Given the description of an element on the screen output the (x, y) to click on. 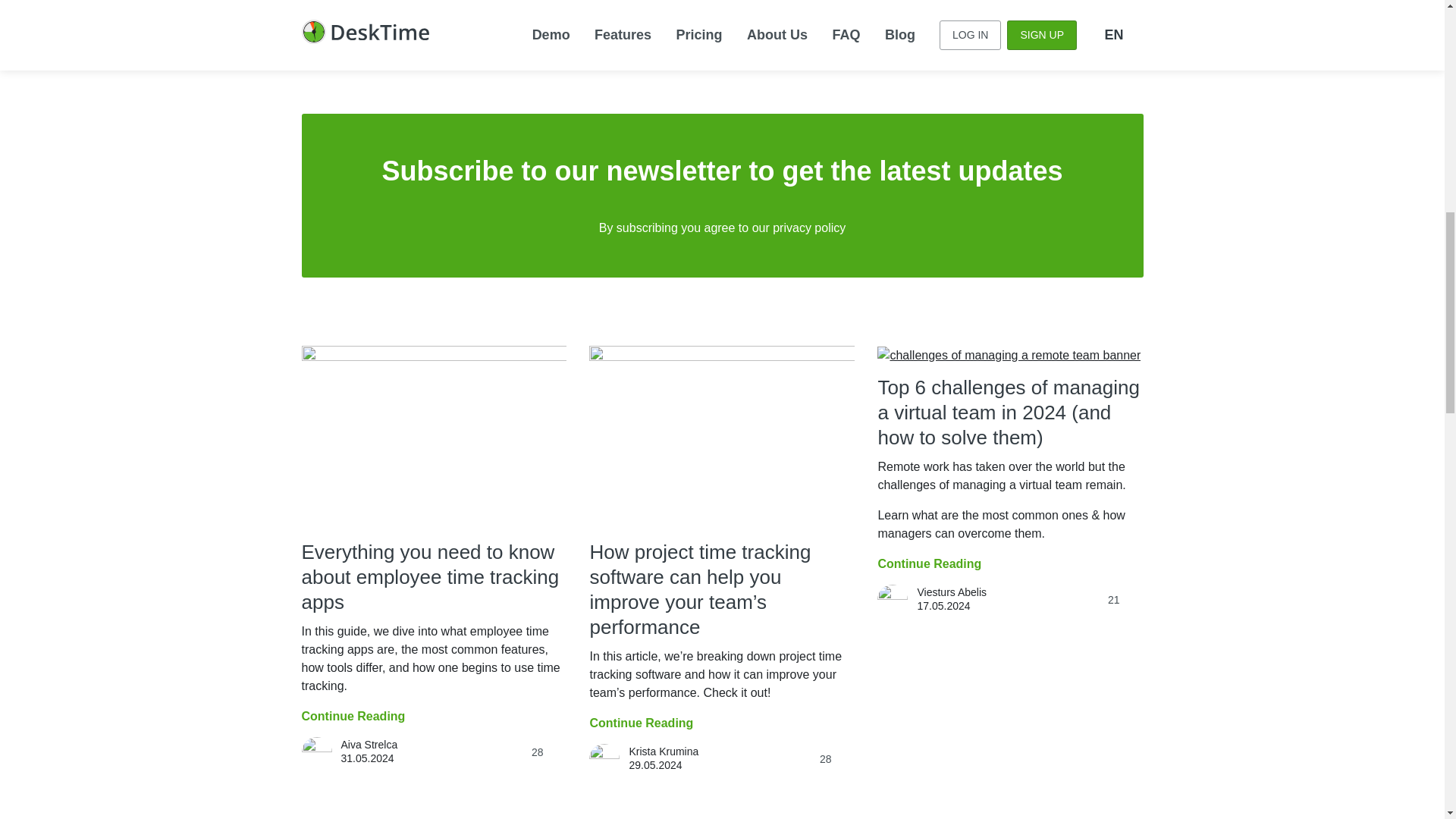
Viesturs Abelis (663, 11)
30 (837, 19)
41 (549, 2)
